Given the description of an element on the screen output the (x, y) to click on. 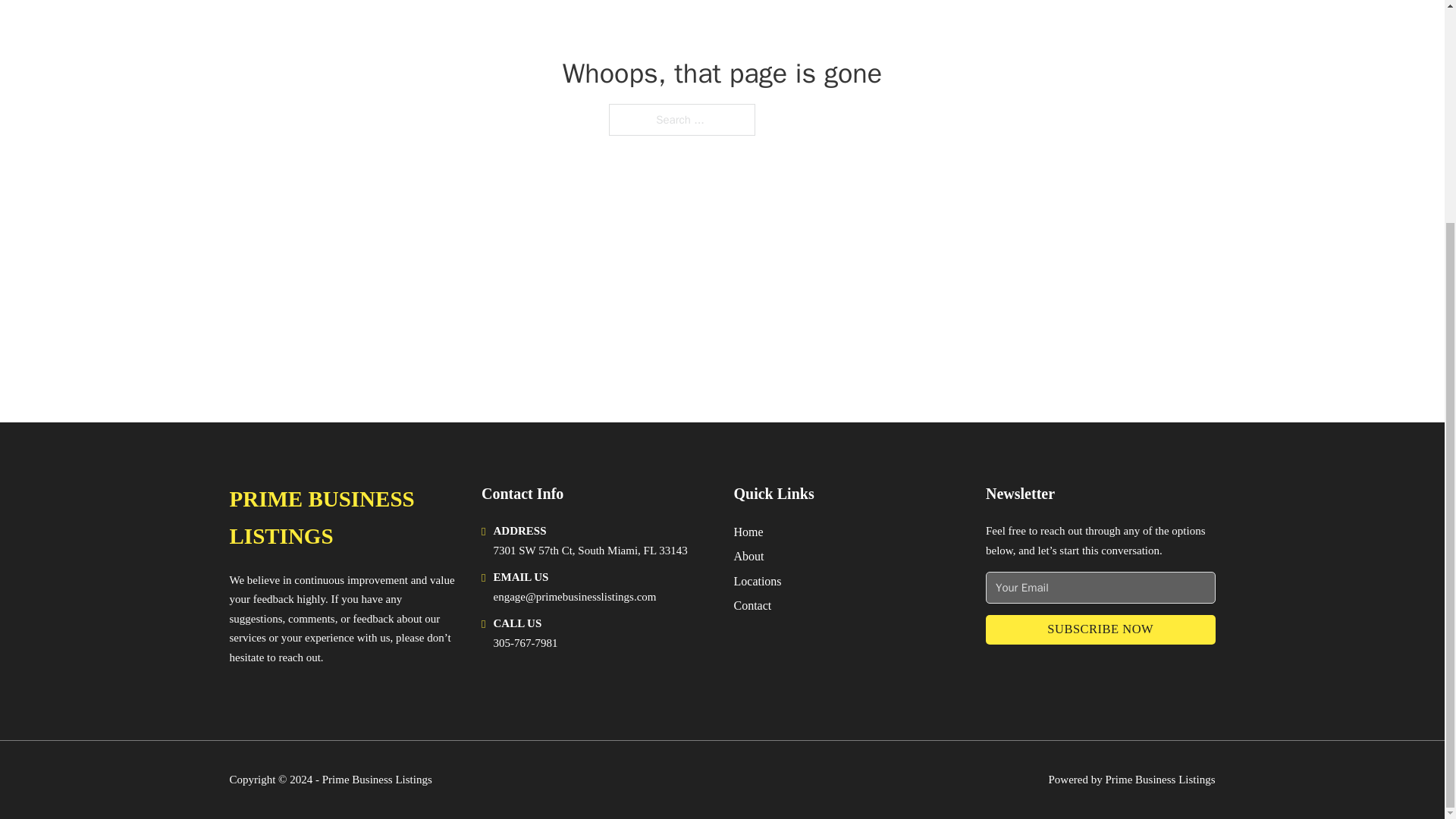
SUBSCRIBE NOW (1100, 629)
Home (747, 531)
PRIME BUSINESS LISTINGS (343, 518)
Locations (757, 580)
Contact (752, 605)
About (748, 556)
305-767-7981 (525, 643)
